Given the description of an element on the screen output the (x, y) to click on. 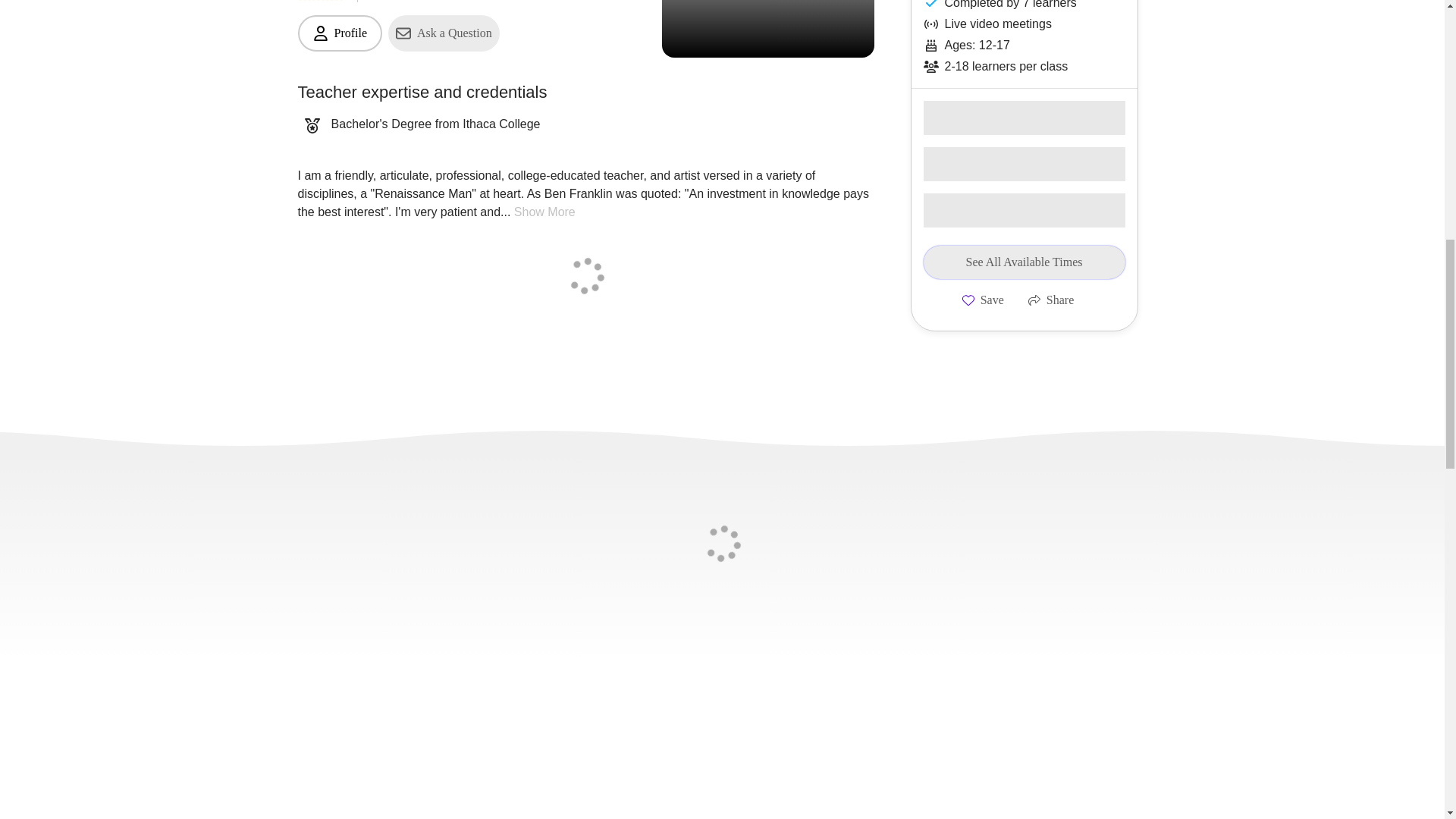
Profile (339, 33)
Ask a Question (443, 33)
Show More (544, 212)
